Given the description of an element on the screen output the (x, y) to click on. 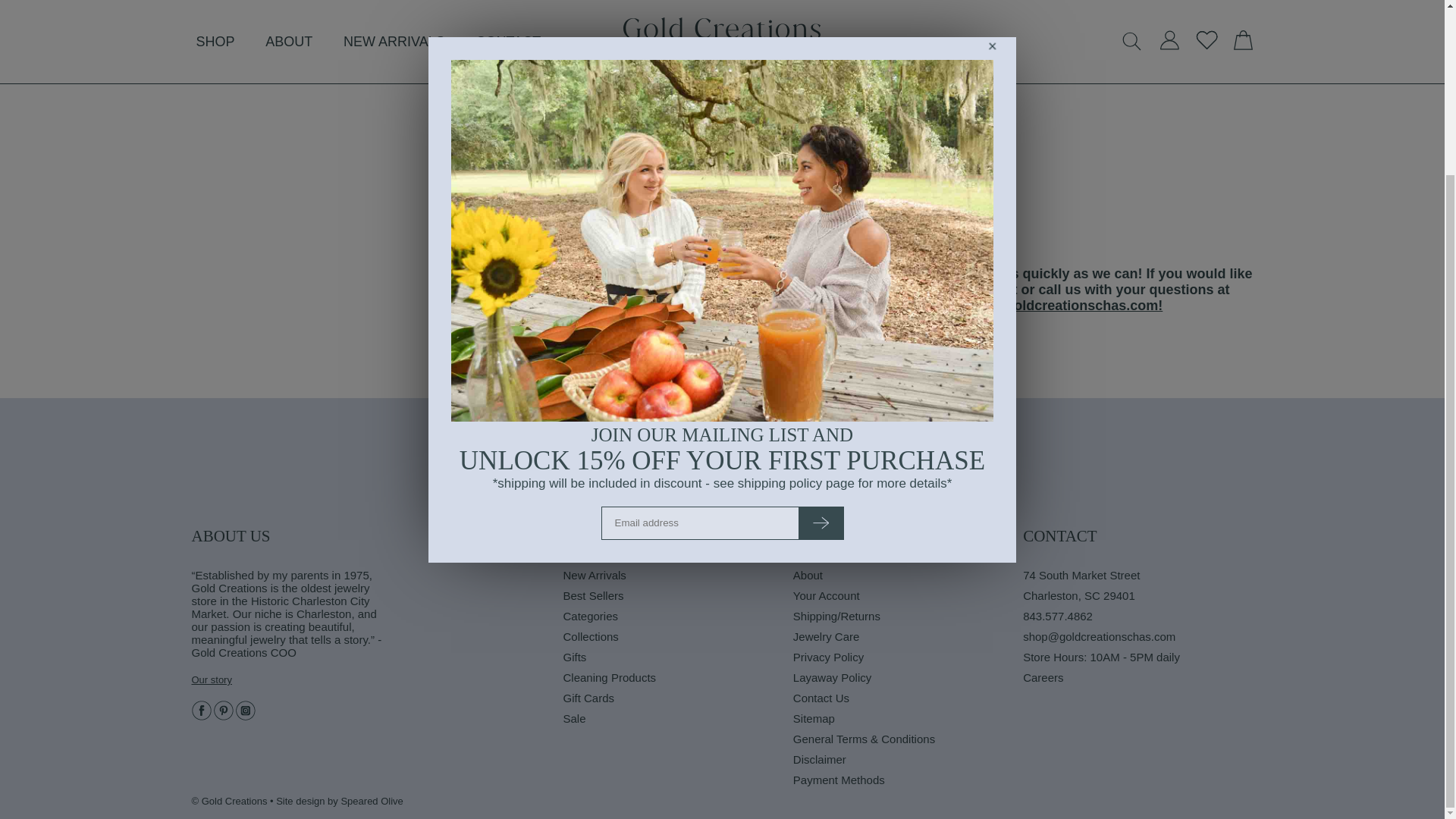
Collections (677, 639)
Cleaning Products (677, 680)
Gift Cards (677, 701)
1 (844, 146)
Gifts (677, 660)
New Arrivals (677, 578)
Categories (677, 619)
Best Sellers (677, 598)
Sale (677, 721)
